Given the description of an element on the screen output the (x, y) to click on. 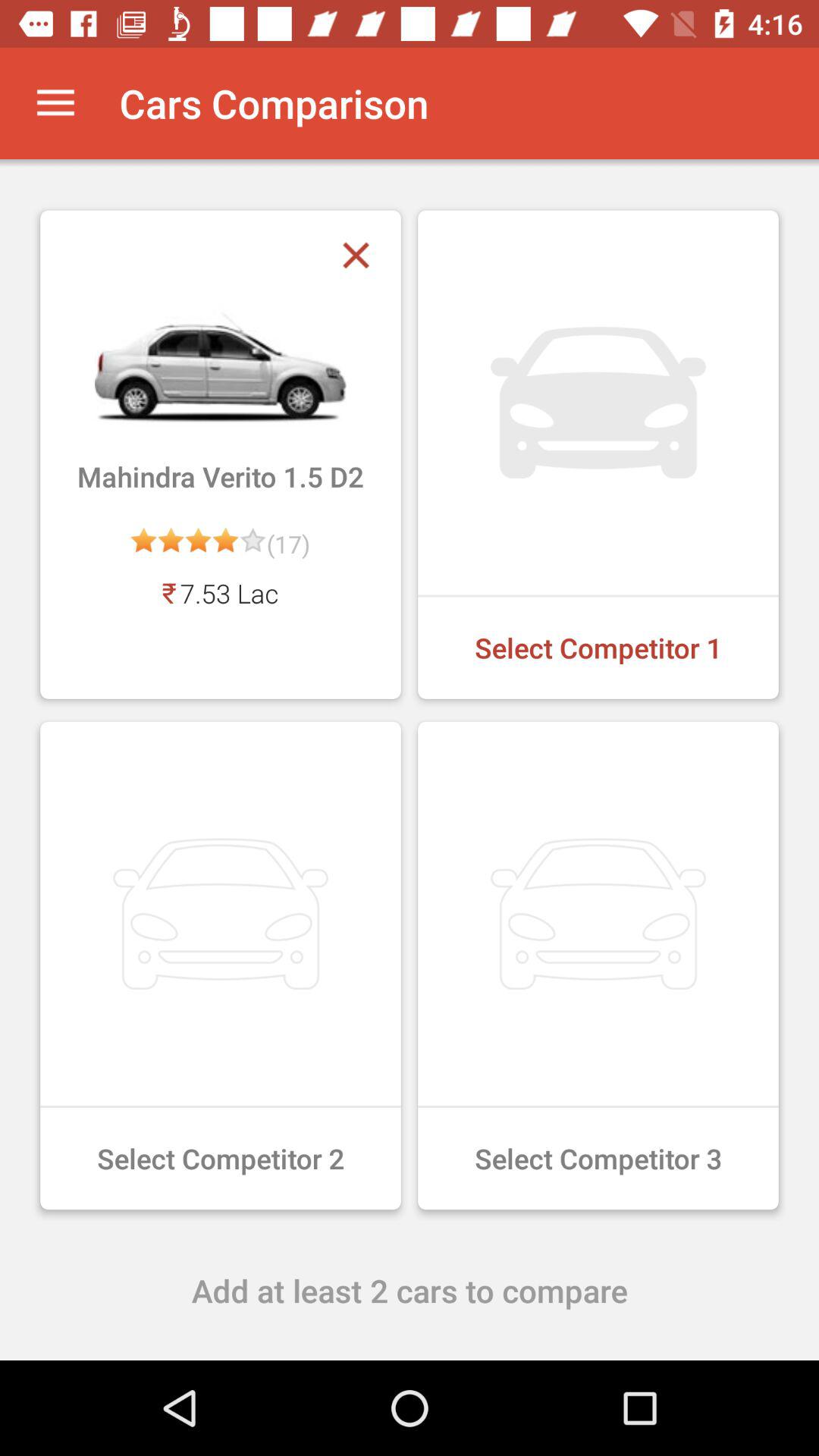
turn off the icon next to the cars comparison app (55, 103)
